Given the description of an element on the screen output the (x, y) to click on. 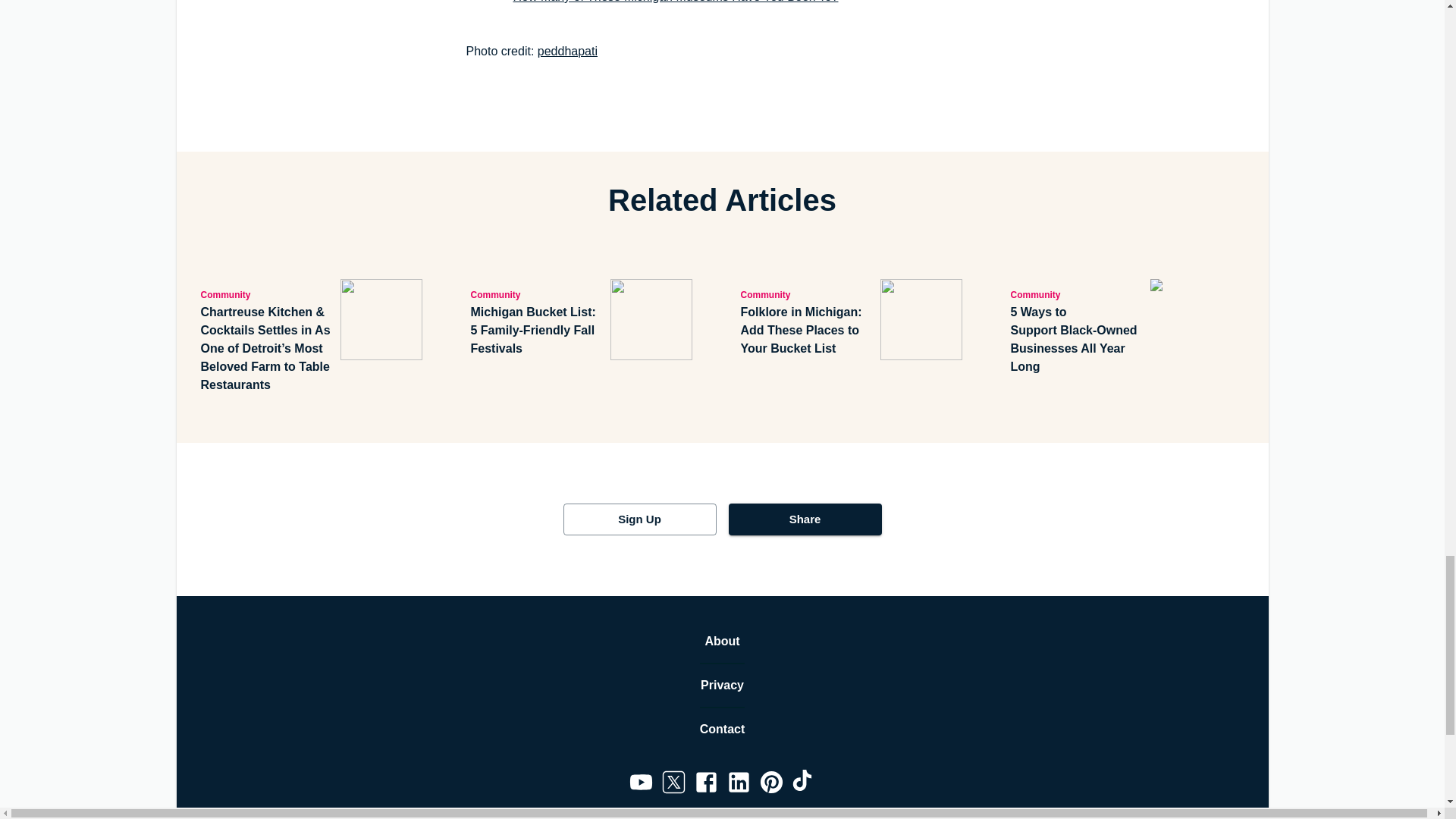
peddhapati (566, 51)
Community (537, 294)
About (721, 641)
Sign Up (639, 519)
Share (804, 519)
Michigan Bucket List: 5 Family-Friendly Fall Festivals (537, 330)
Community (1077, 294)
Folklore in Michigan: Add These Places to Your Bucket List (807, 330)
5 Ways to Support Black-Owned Businesses All Year Long   (1077, 339)
